Given the description of an element on the screen output the (x, y) to click on. 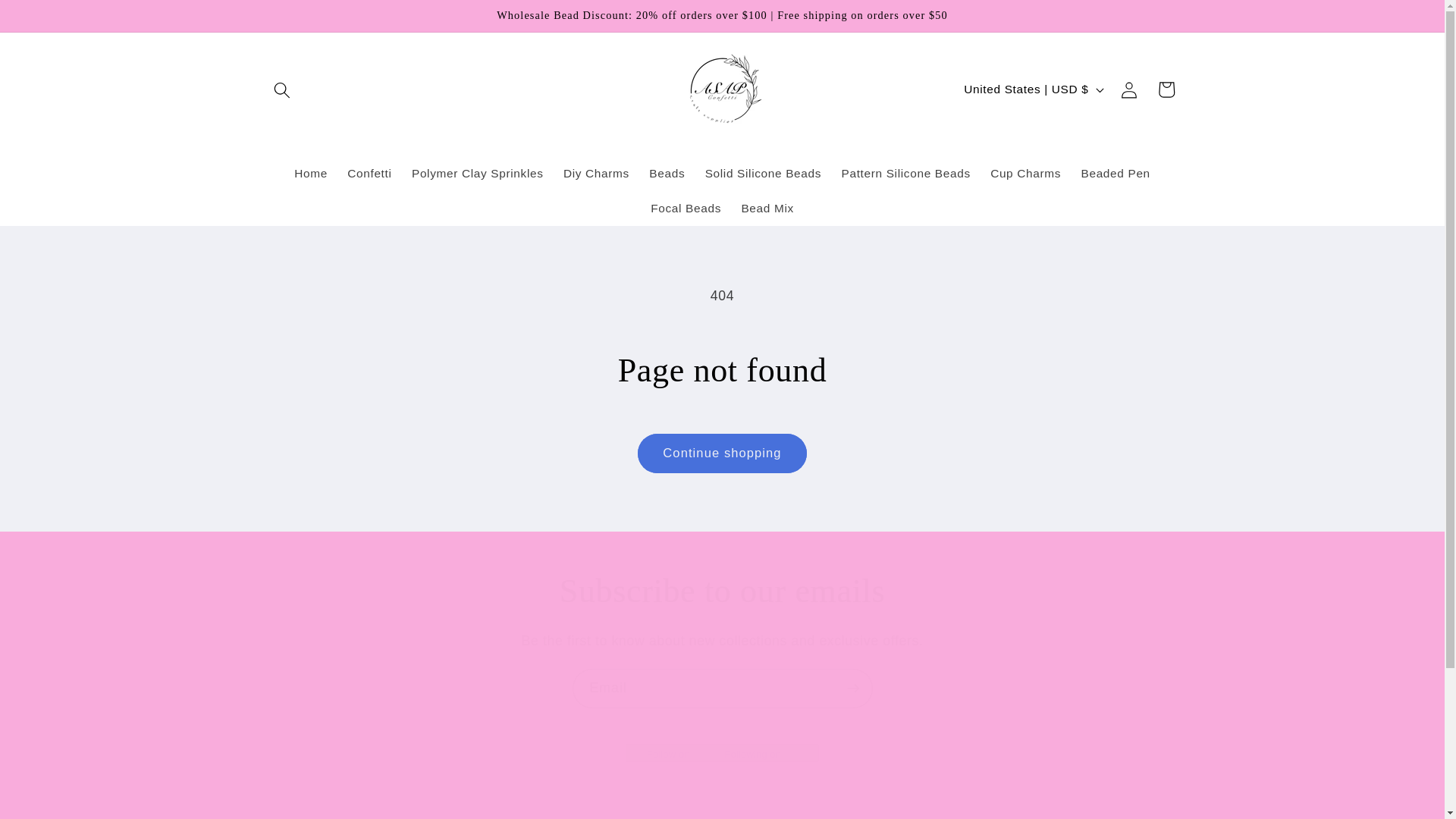
Pattern Silicone Beads (905, 173)
Solid Silicone Beads (762, 173)
Subscribe to our emails (722, 590)
Beads (666, 173)
Log in (1128, 89)
Polymer Clay Sprinkles (477, 173)
Home (310, 173)
Diy Charms (596, 173)
Cup Charms (1024, 173)
